Given the description of an element on the screen output the (x, y) to click on. 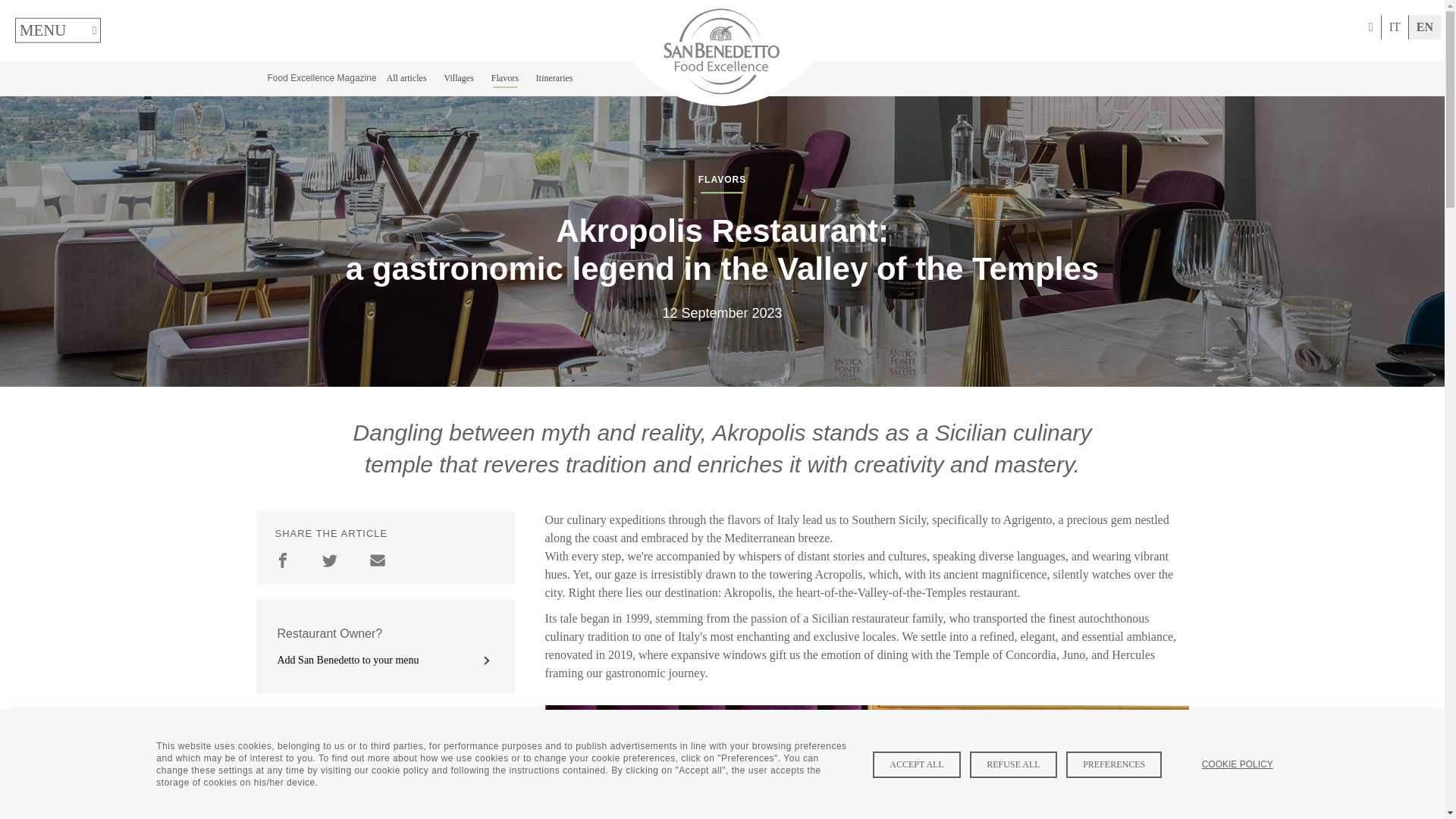
All articles (406, 78)
Villages (459, 78)
Flavors (505, 78)
EN (1425, 28)
IT (1394, 28)
Itineraries (554, 78)
